Given the description of an element on the screen output the (x, y) to click on. 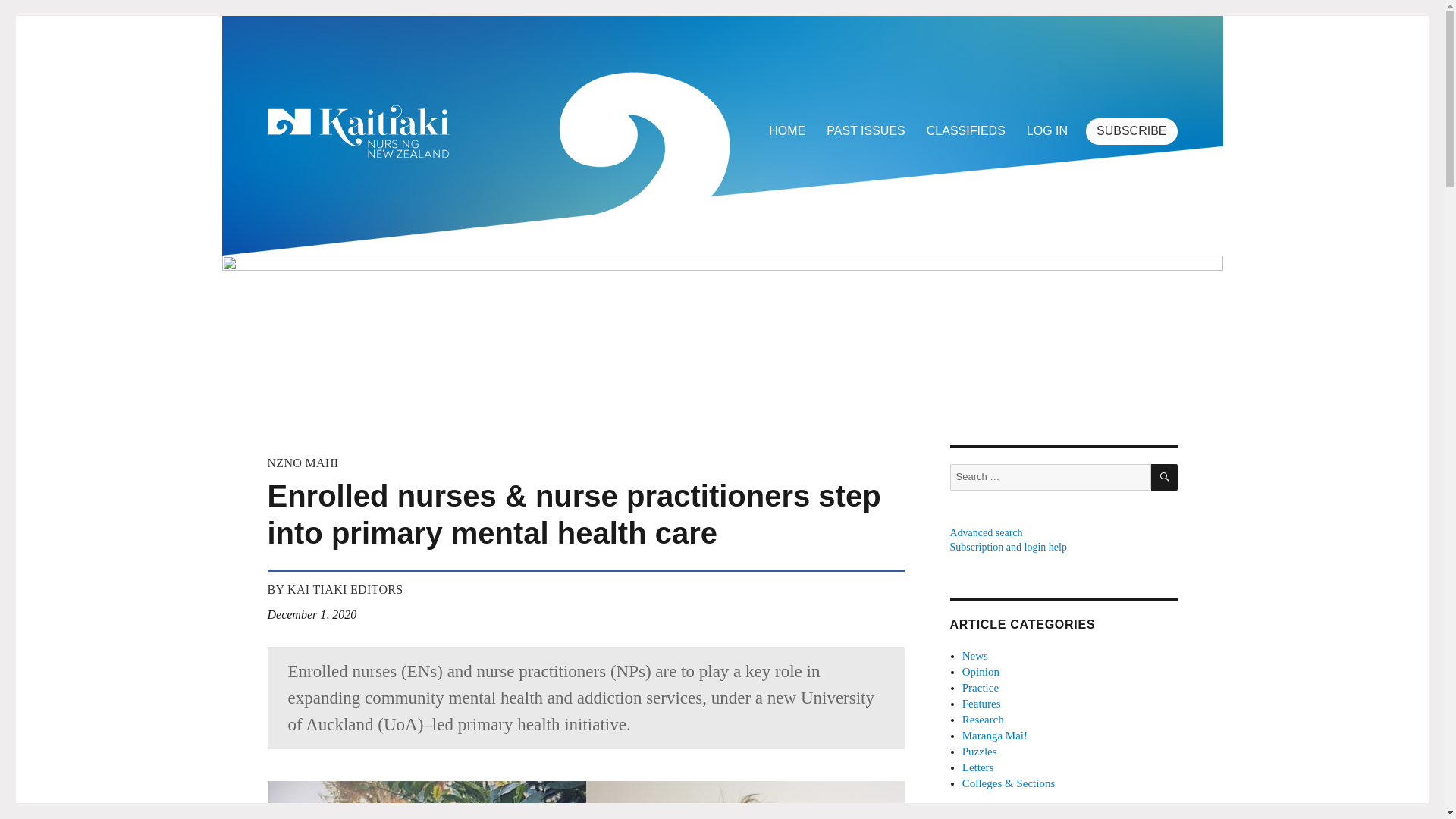
Features (981, 703)
SUBSCRIBE (1131, 130)
SEARCH (1164, 477)
HOME (786, 130)
Letters (978, 767)
Opinion (980, 671)
Puzzles (979, 751)
Research (983, 719)
News (975, 655)
Subscription and login help (1007, 546)
PAST ISSUES (865, 130)
Maranga Mai! (994, 735)
Advanced search (985, 532)
CLASSIFIEDS (965, 130)
LOG IN (1047, 130)
